Given the description of an element on the screen output the (x, y) to click on. 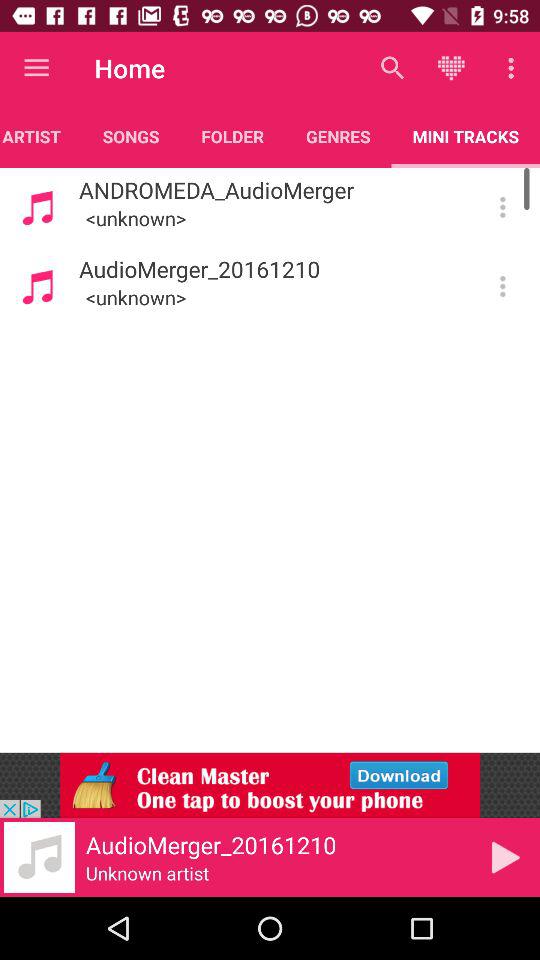
more information and options about this (502, 207)
